Given the description of an element on the screen output the (x, y) to click on. 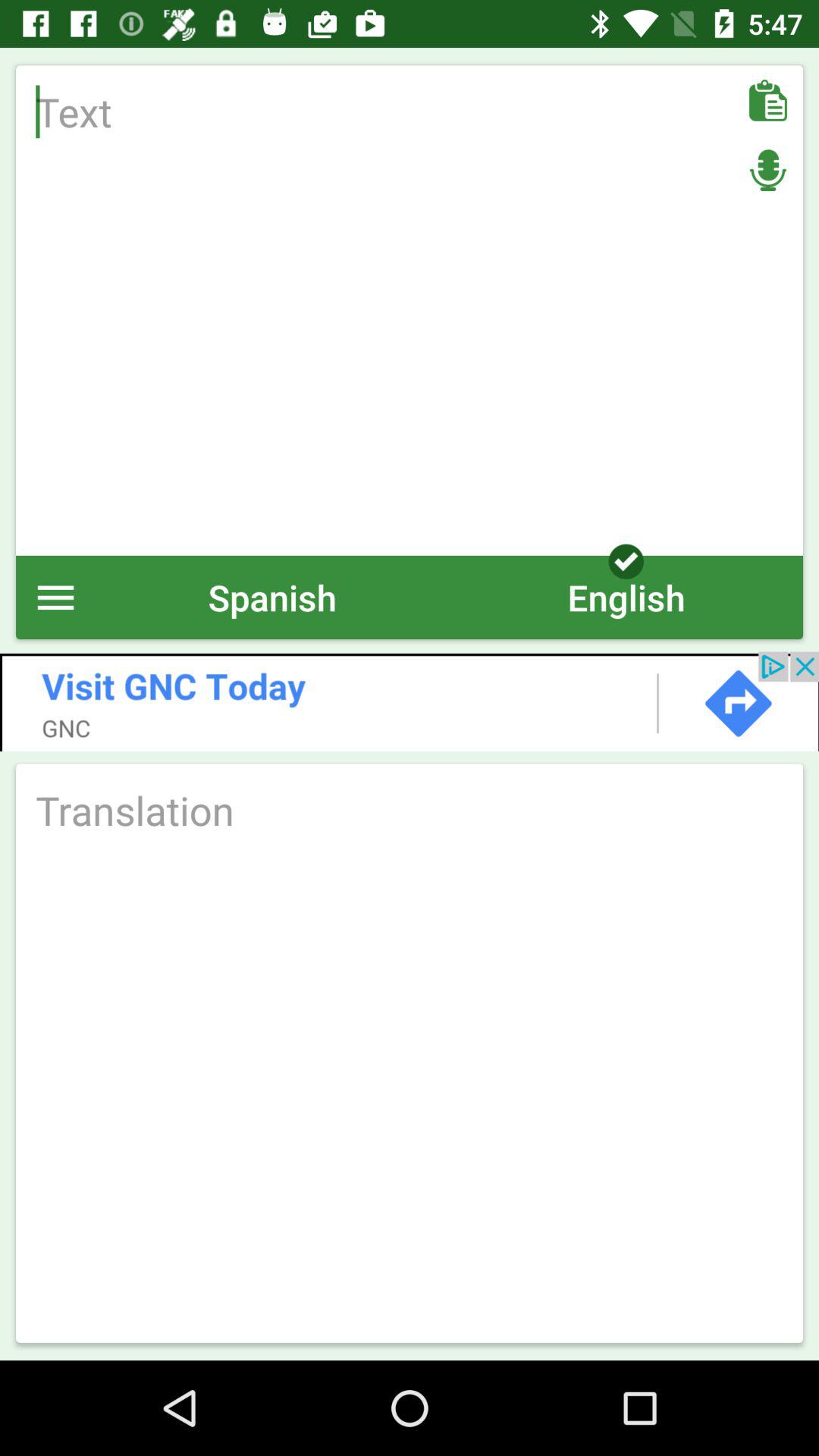
translate something (409, 809)
